Given the description of an element on the screen output the (x, y) to click on. 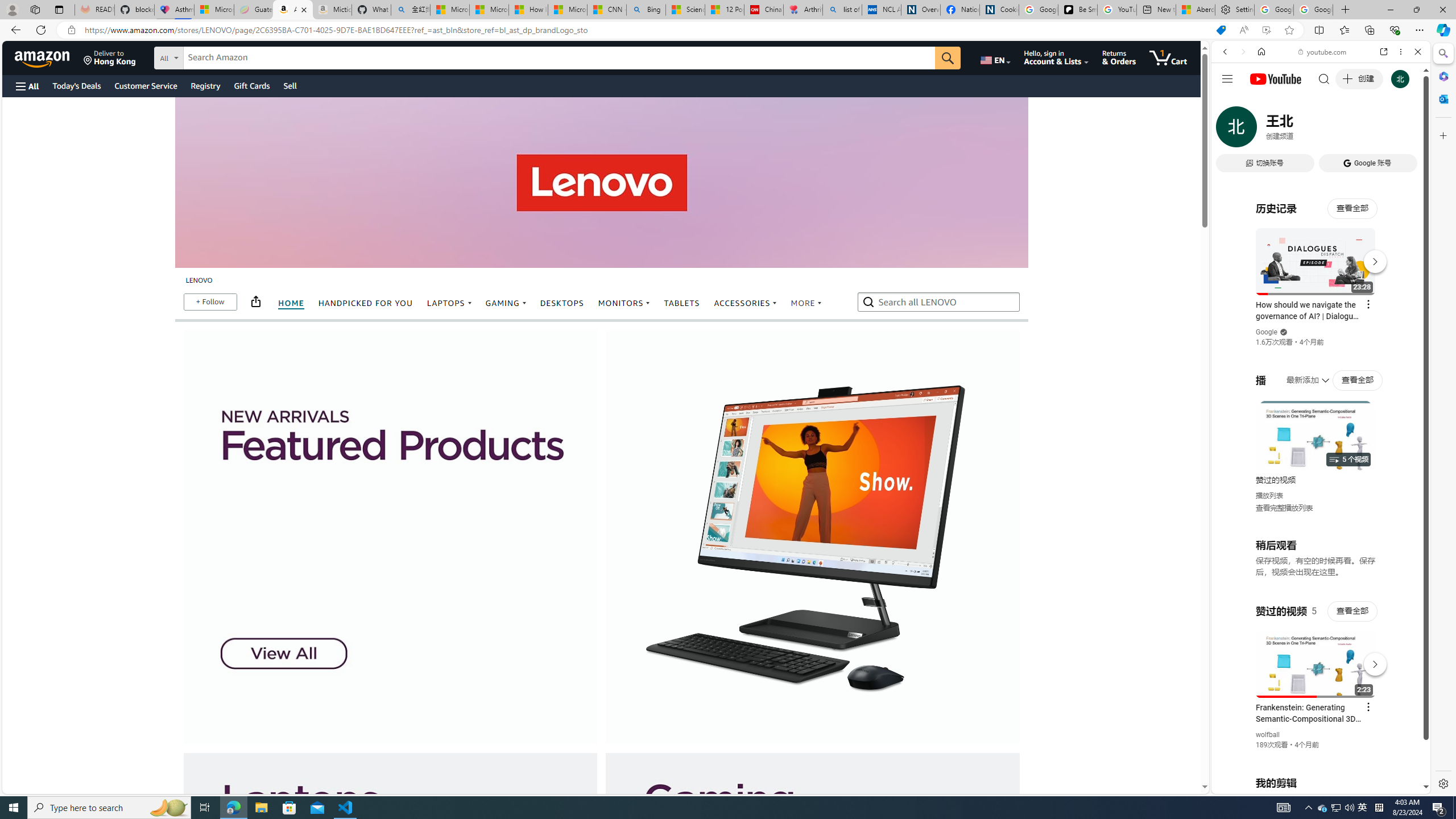
Open Menu (26, 86)
TABLETS (681, 303)
Follow LENOVO (209, 301)
